Given the description of an element on the screen output the (x, y) to click on. 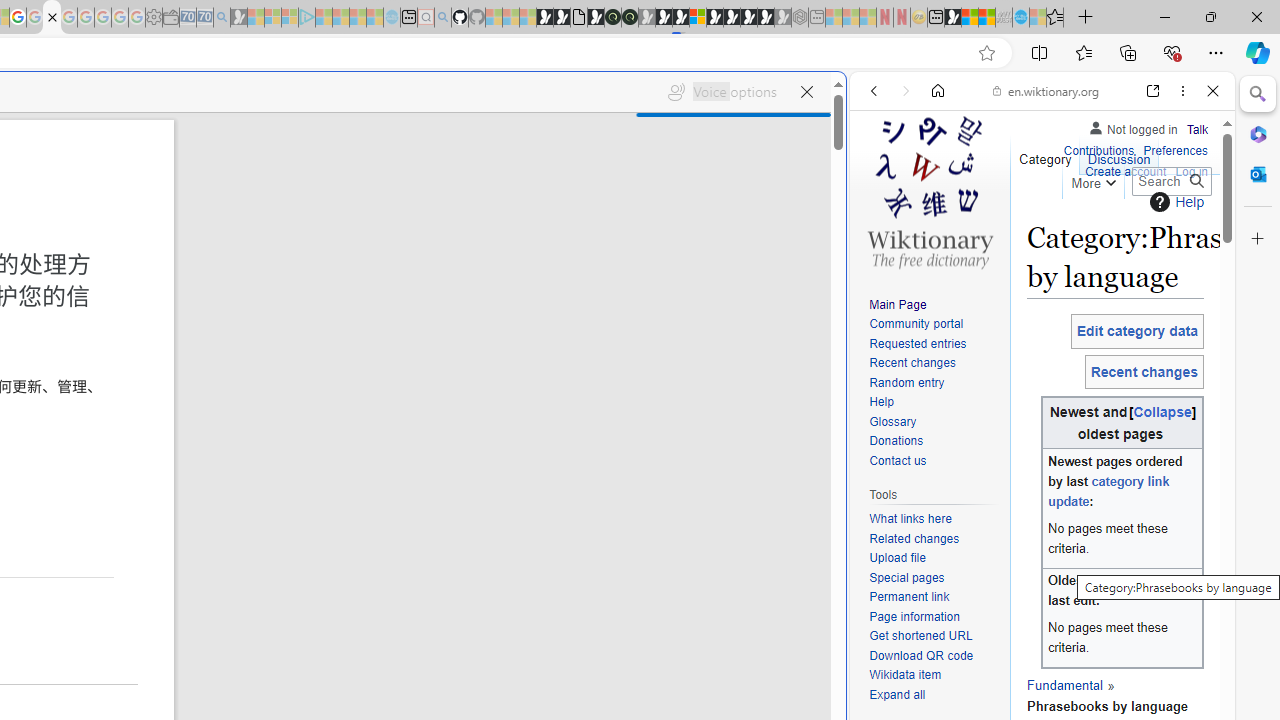
Search Wiktionary (1171, 181)
Related changes (914, 538)
Contributions (1098, 151)
Log in (1191, 172)
Expand all (897, 694)
Get shortened URL (934, 637)
